Given the description of an element on the screen output the (x, y) to click on. 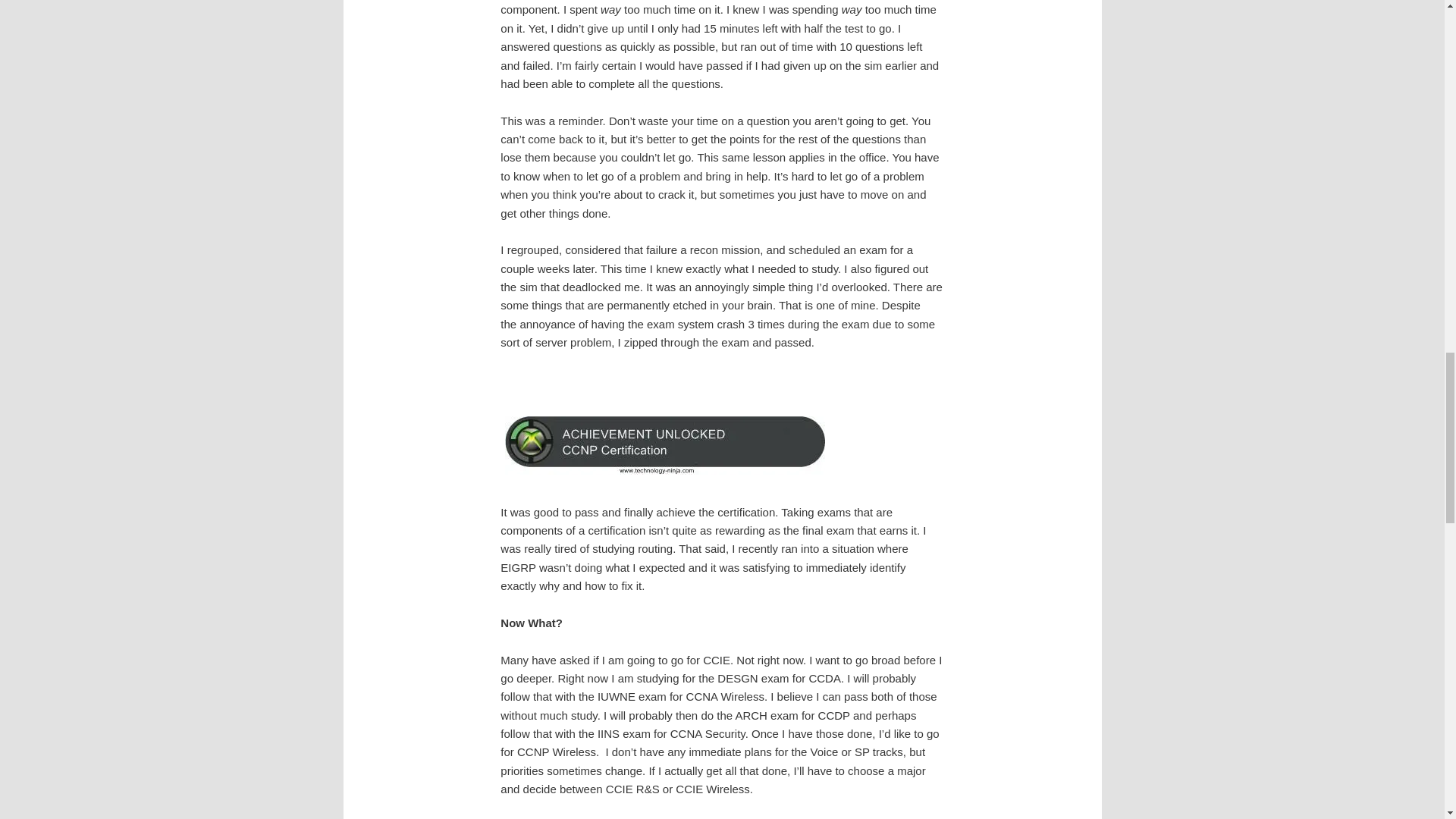
CCNP Achievement (664, 445)
